Given the description of an element on the screen output the (x, y) to click on. 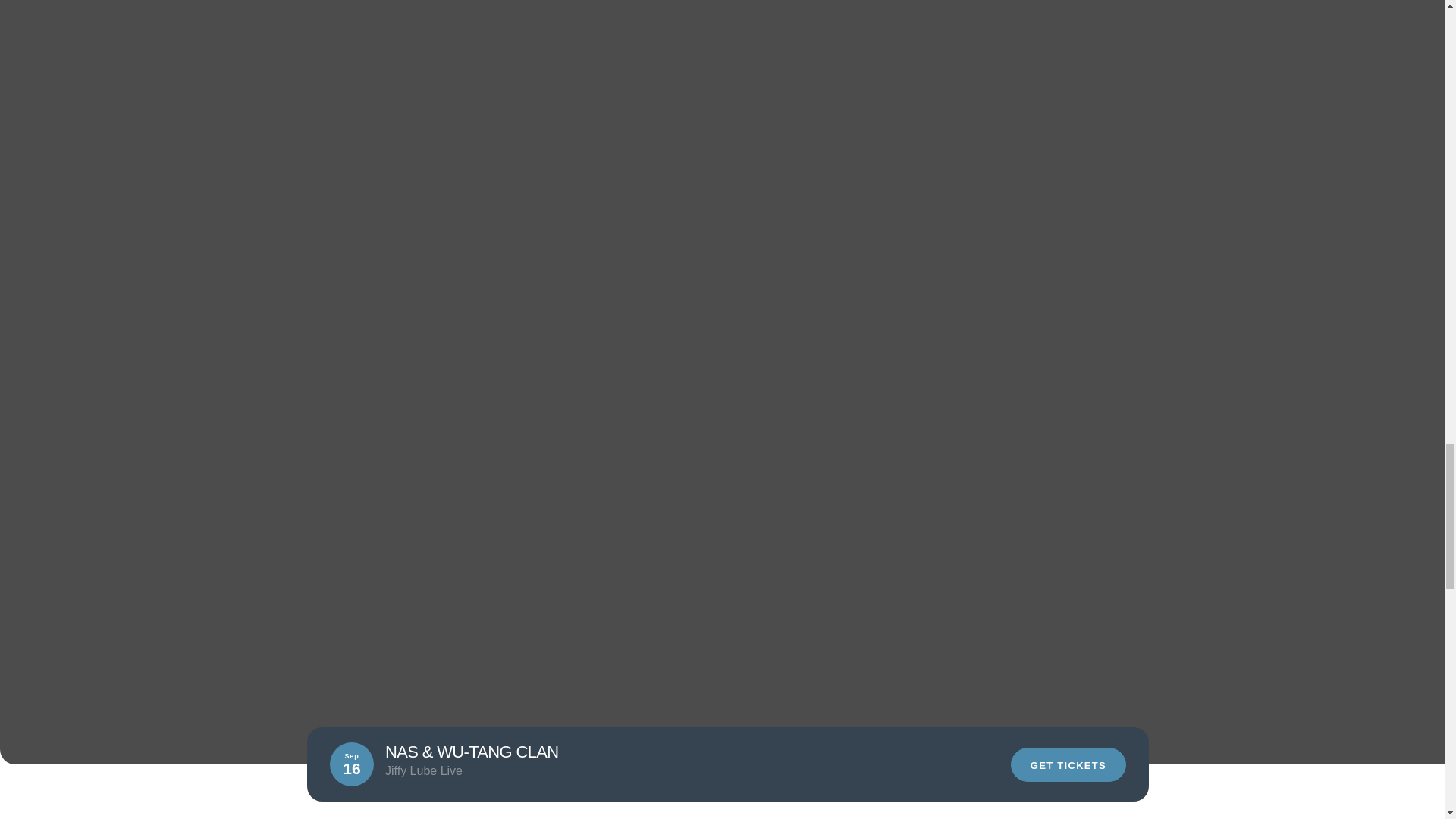
GET TICKETS (1067, 764)
Archive (433, 765)
Jiffy Lube Live (352, 765)
2022 (489, 765)
September (553, 765)
